Given the description of an element on the screen output the (x, y) to click on. 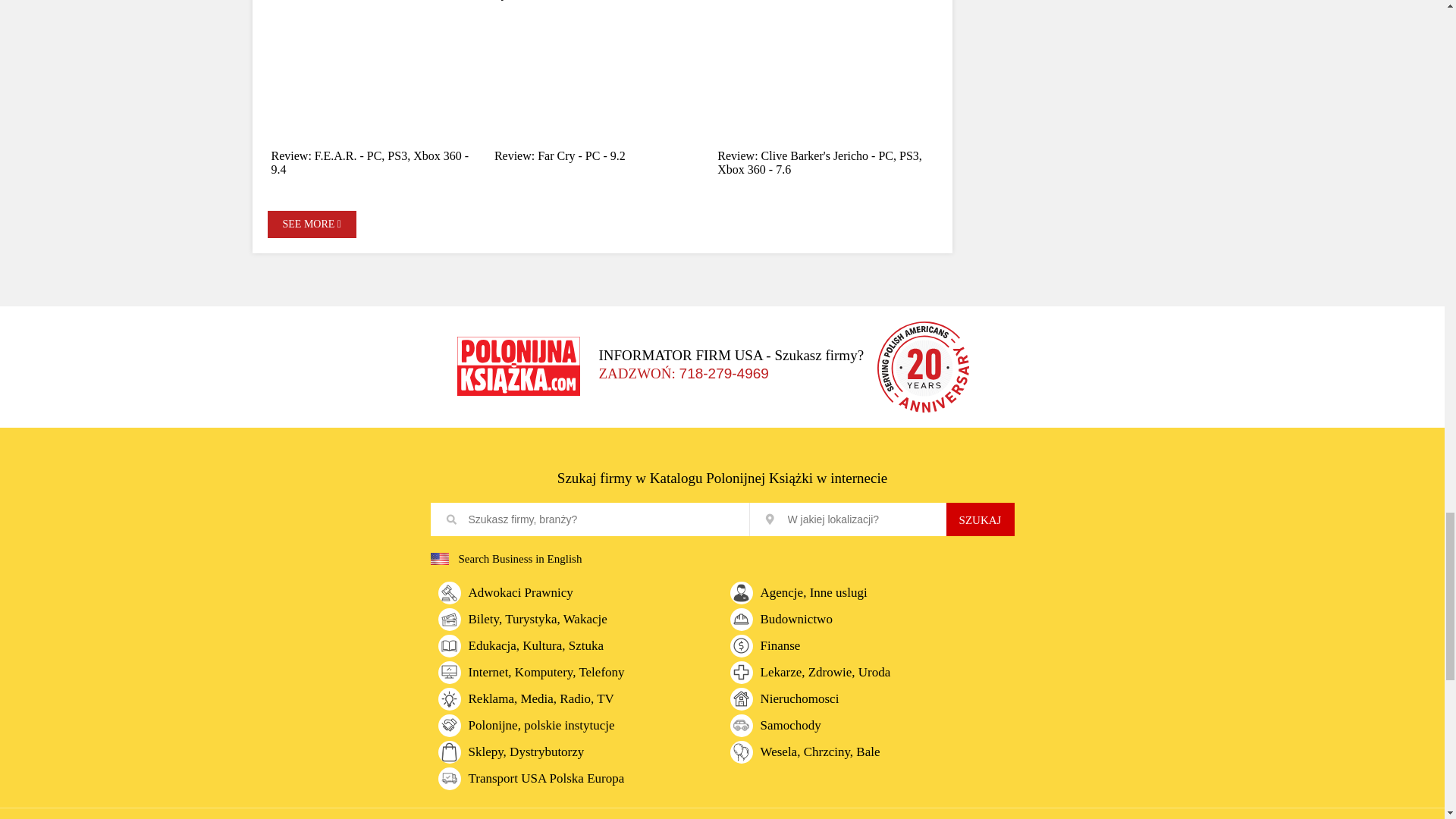
SZUKAJ (980, 519)
